Given the description of an element on the screen output the (x, y) to click on. 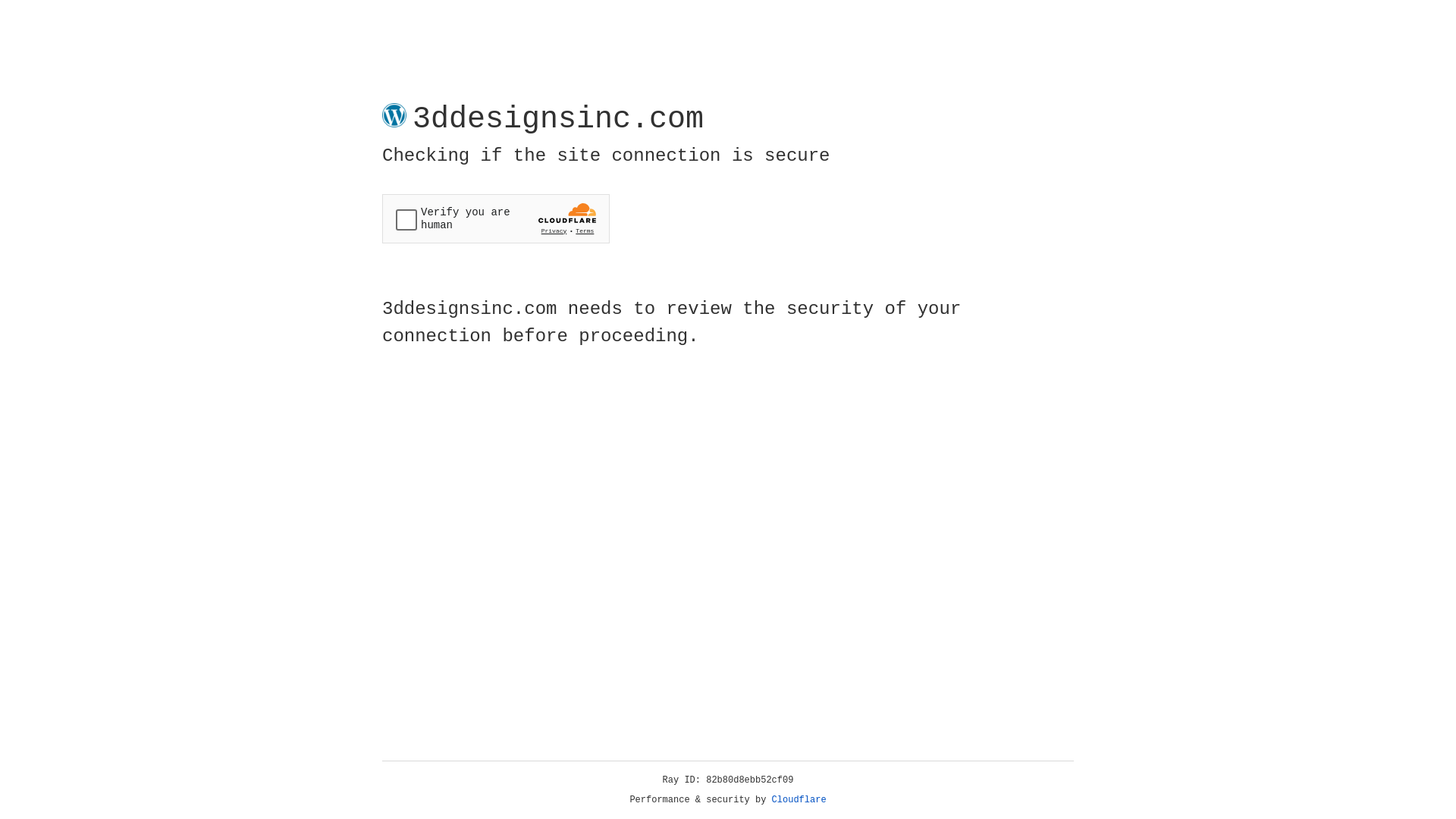
Widget containing a Cloudflare security challenge Element type: hover (495, 218)
Cloudflare Element type: text (798, 799)
